Given the description of an element on the screen output the (x, y) to click on. 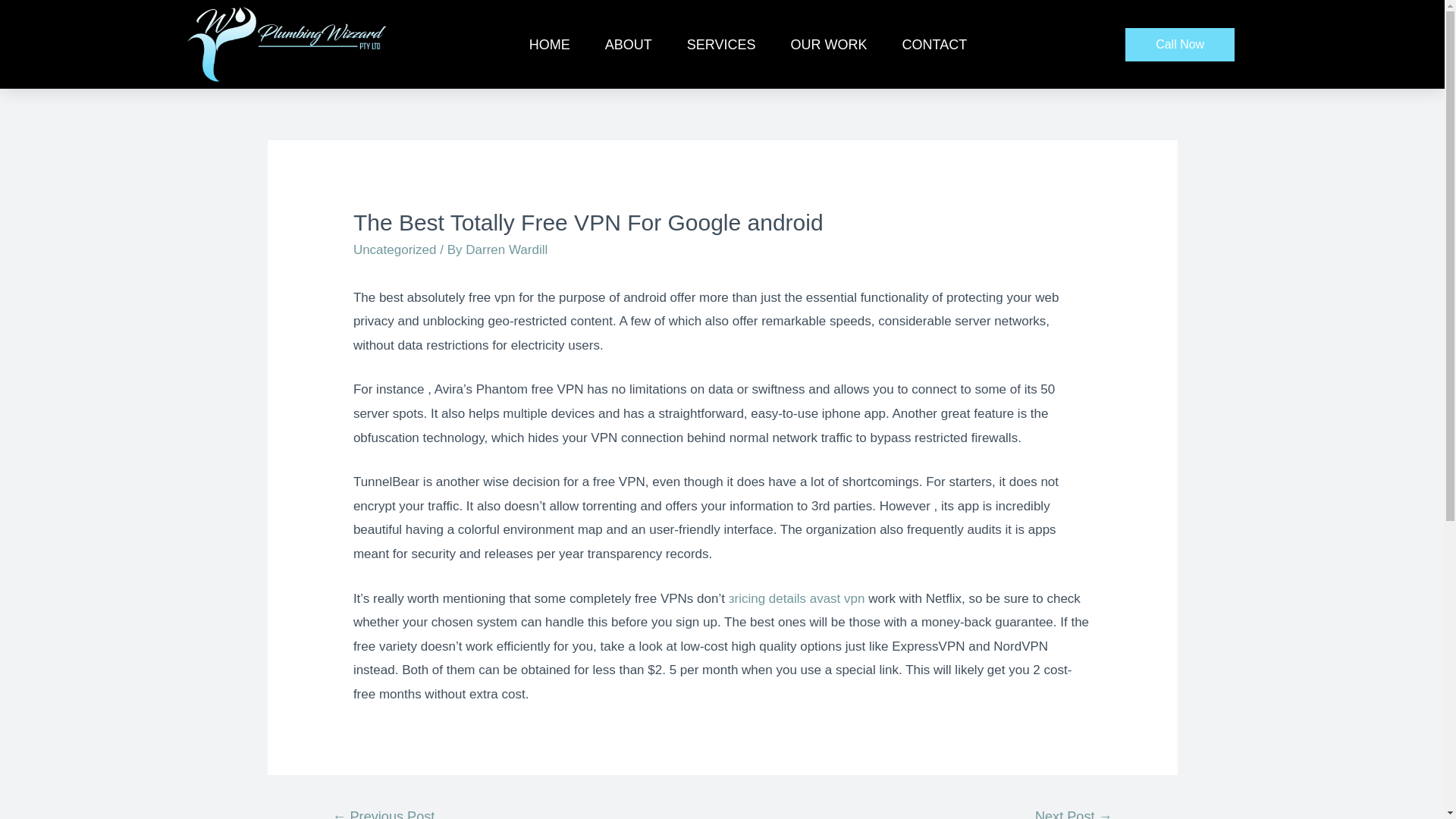
Uncategorized (394, 249)
ABOUT (627, 44)
Call Now (1179, 44)
View all posts by Darren Wardill (506, 249)
HOME (549, 44)
SERVICES (721, 44)
Darren Wardill (506, 249)
OUR WORK (828, 44)
CONTACT (934, 44)
